Given the description of an element on the screen output the (x, y) to click on. 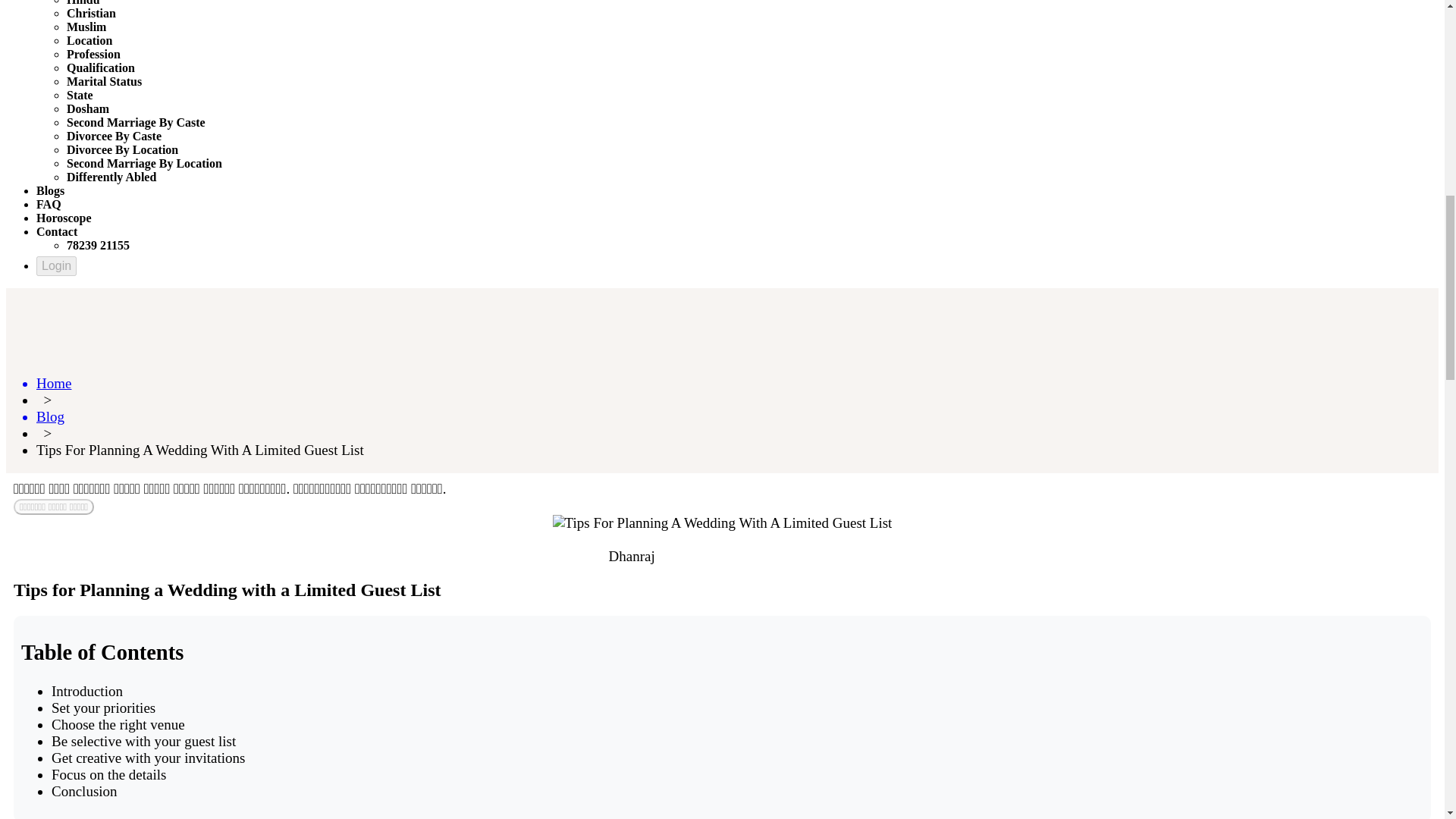
Introduction (86, 691)
Login (56, 265)
Divorcee By Location (121, 149)
State (79, 94)
Set your priorities (102, 707)
Focus on the details (107, 774)
Contact (56, 231)
FAQ (48, 204)
Differently Abled (110, 176)
Conclusion (83, 790)
Horoscope (63, 217)
Second Marriage By Caste (135, 122)
Marital Status (103, 81)
Muslim (86, 26)
Choose the right venue (117, 724)
